Given the description of an element on the screen output the (x, y) to click on. 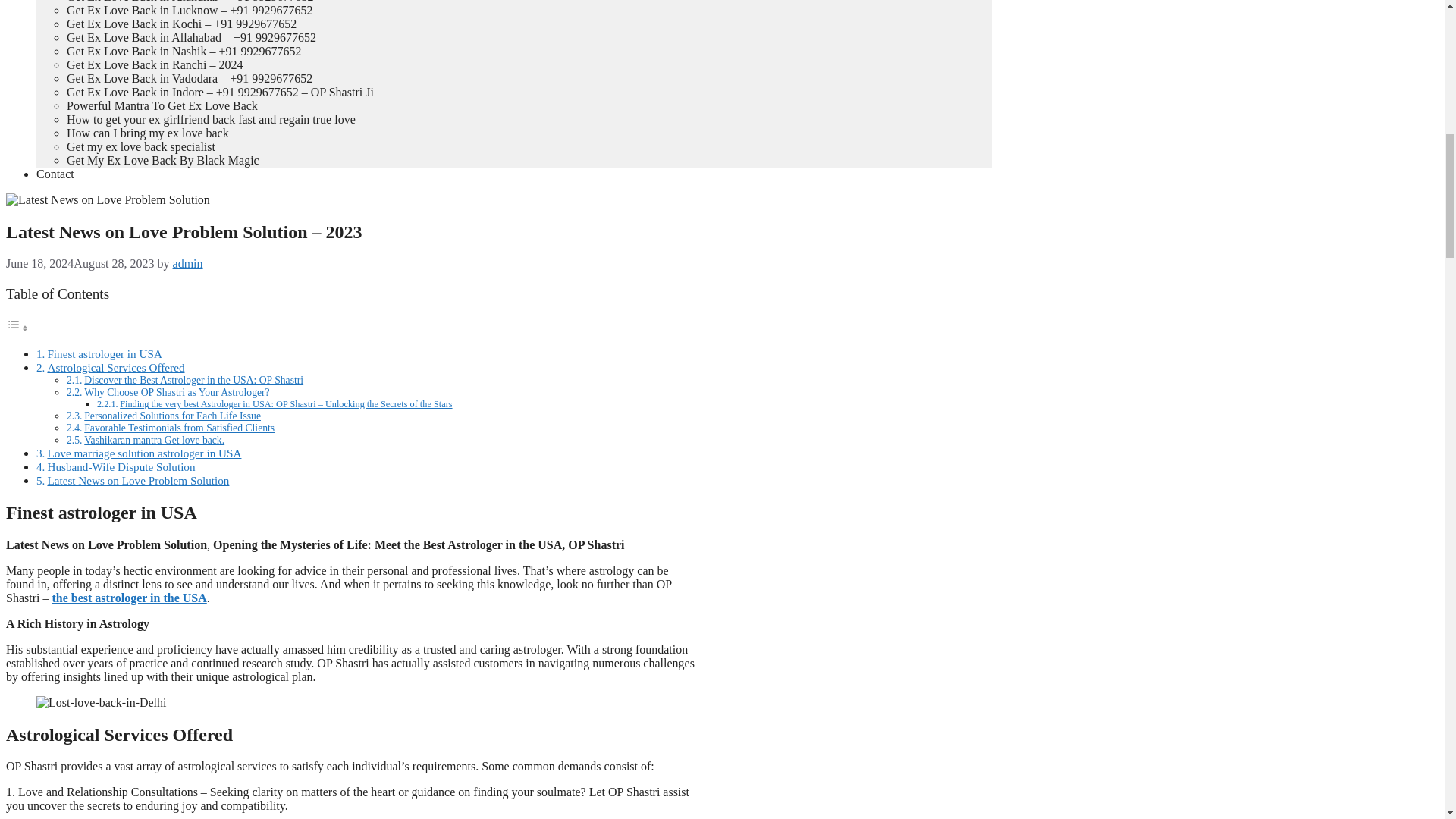
Love marriage solution astrologer in USA (143, 452)
Discover the Best Astrologer in the USA: OP Shastri (193, 379)
Husband-Wife Dispute Solution (120, 466)
Scroll back to top (1406, 720)
Why Choose OP Shastri as Your Astrologer? (176, 392)
Astrological Services Offered (115, 367)
View all posts by admin (188, 263)
Finest astrologer in USA (103, 353)
Favorable Testimonials from Satisfied Clients (179, 428)
Personalized Solutions for Each Life Issue (172, 415)
Latest News on Love Problem Solution (137, 480)
Vashikaran mantra Get love back. (154, 439)
